Given the description of an element on the screen output the (x, y) to click on. 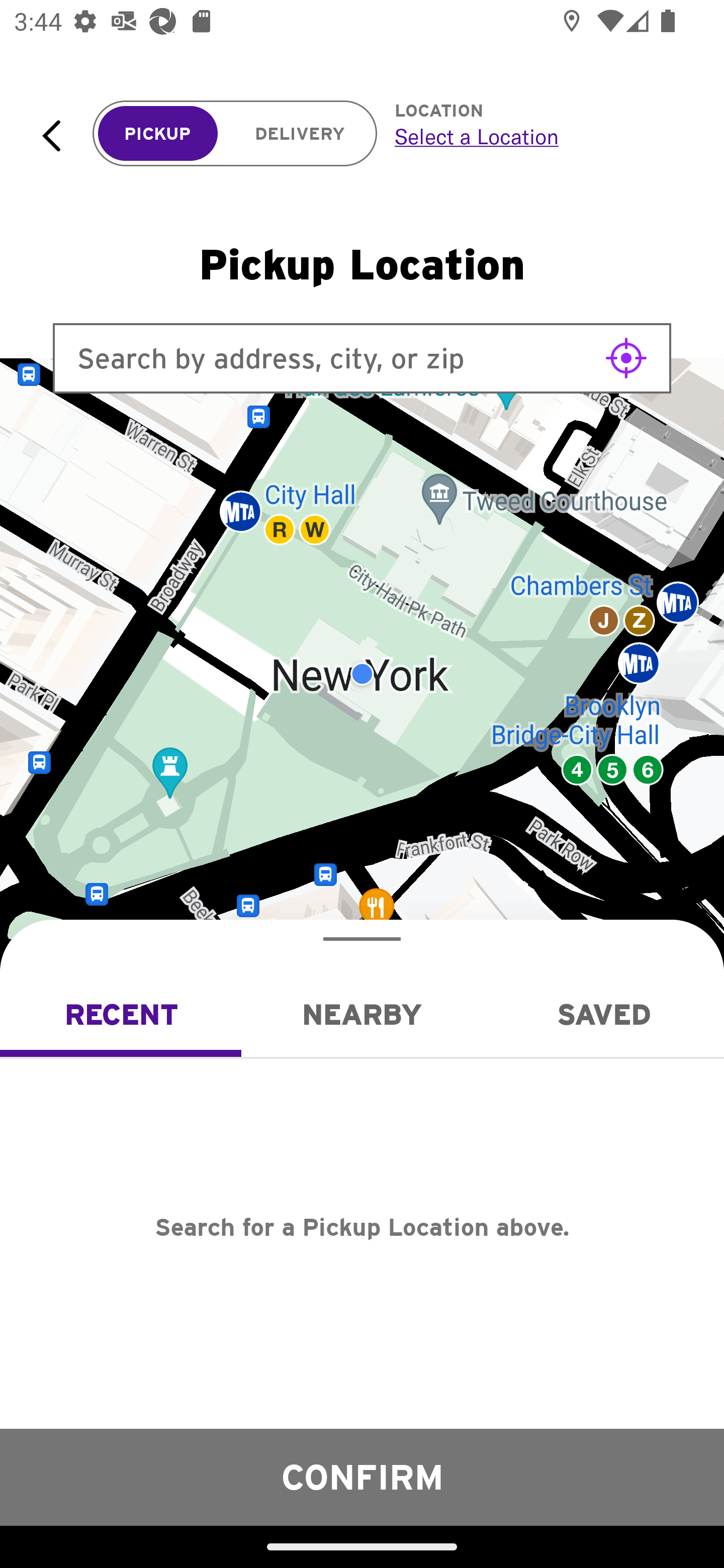
PICKUP (157, 133)
DELIVERY (299, 133)
Select a Location (536, 136)
Search by address, city, or zip (361, 358)
Google Map (362, 674)
Nearby NEARBY (361, 1014)
Saved SAVED (603, 1014)
CONFIRM (362, 1476)
